Given the description of an element on the screen output the (x, y) to click on. 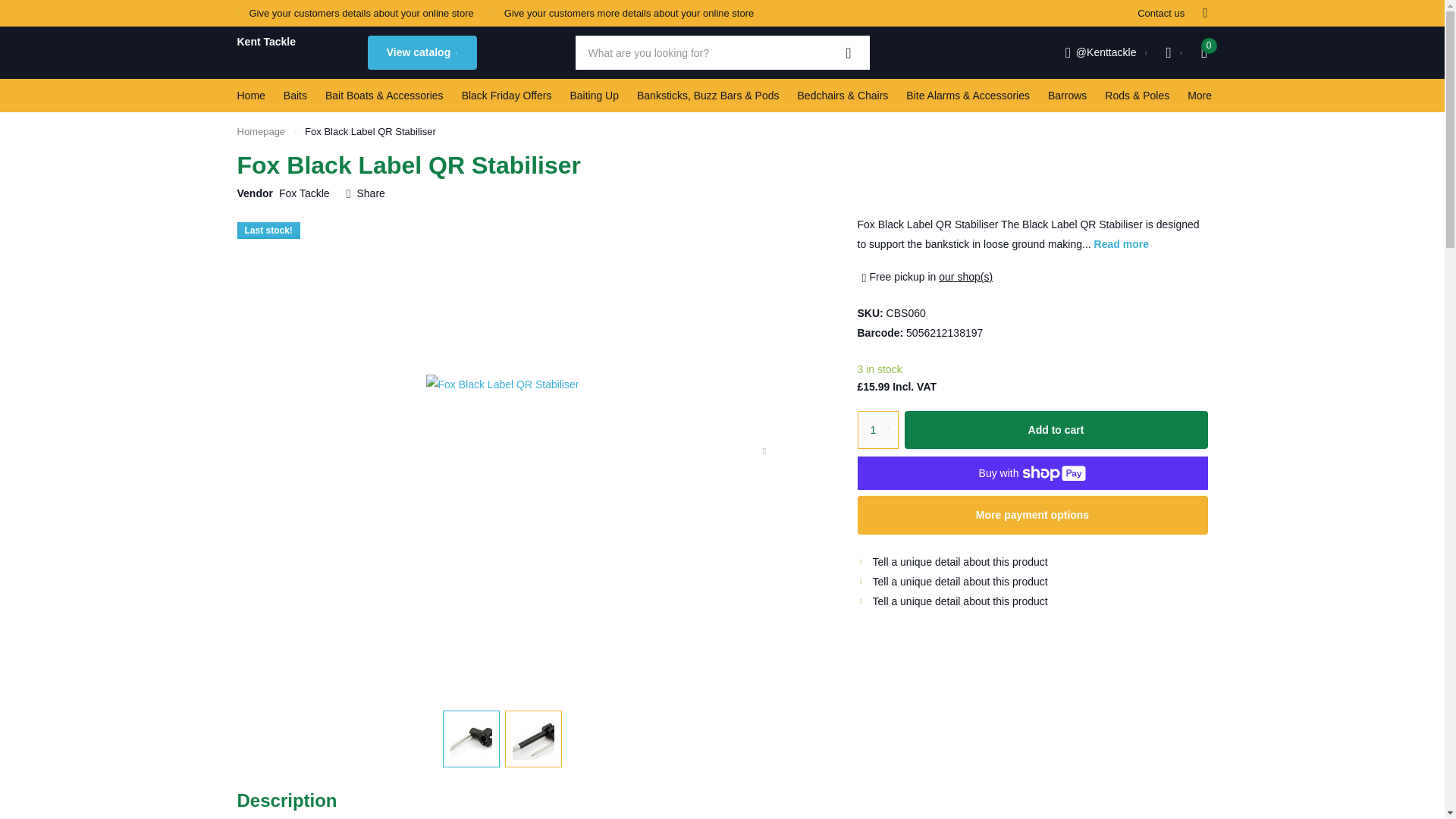
Home (260, 131)
Home (249, 95)
View catalog (421, 52)
Zoeken (848, 52)
Contact us (1161, 13)
Baits (295, 95)
1 (877, 430)
0 (1204, 52)
